Given the description of an element on the screen output the (x, y) to click on. 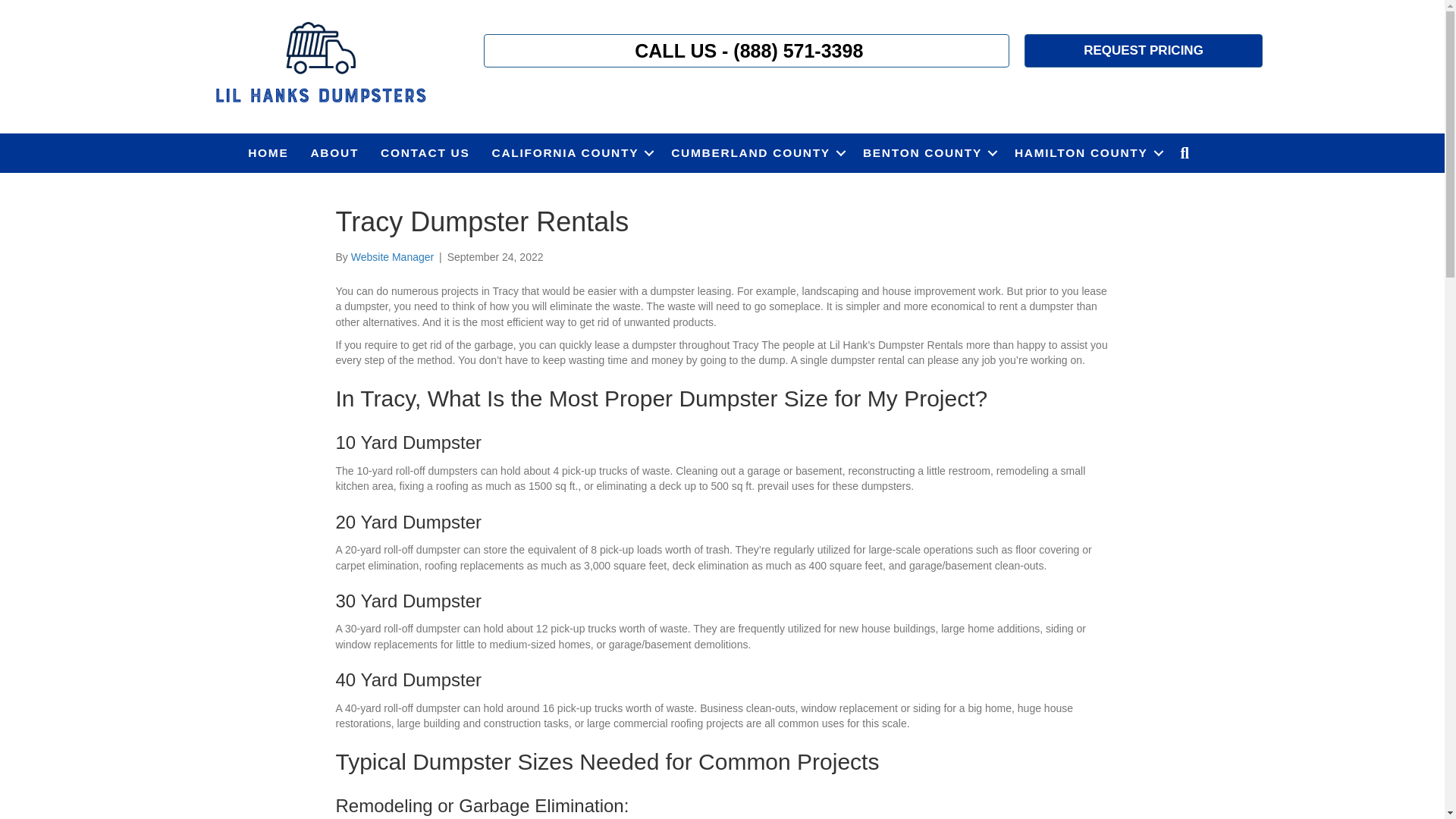
CALIFORNIA COUNTY (571, 152)
CONTACT US (424, 152)
HOME (267, 152)
CUMBERLAND COUNTY (756, 152)
REQUEST PRICING (1144, 50)
BENTON COUNTY (927, 152)
ABOUT (334, 152)
Lil Hanks (319, 64)
HAMILTON COUNTY (1086, 152)
